Given the description of an element on the screen output the (x, y) to click on. 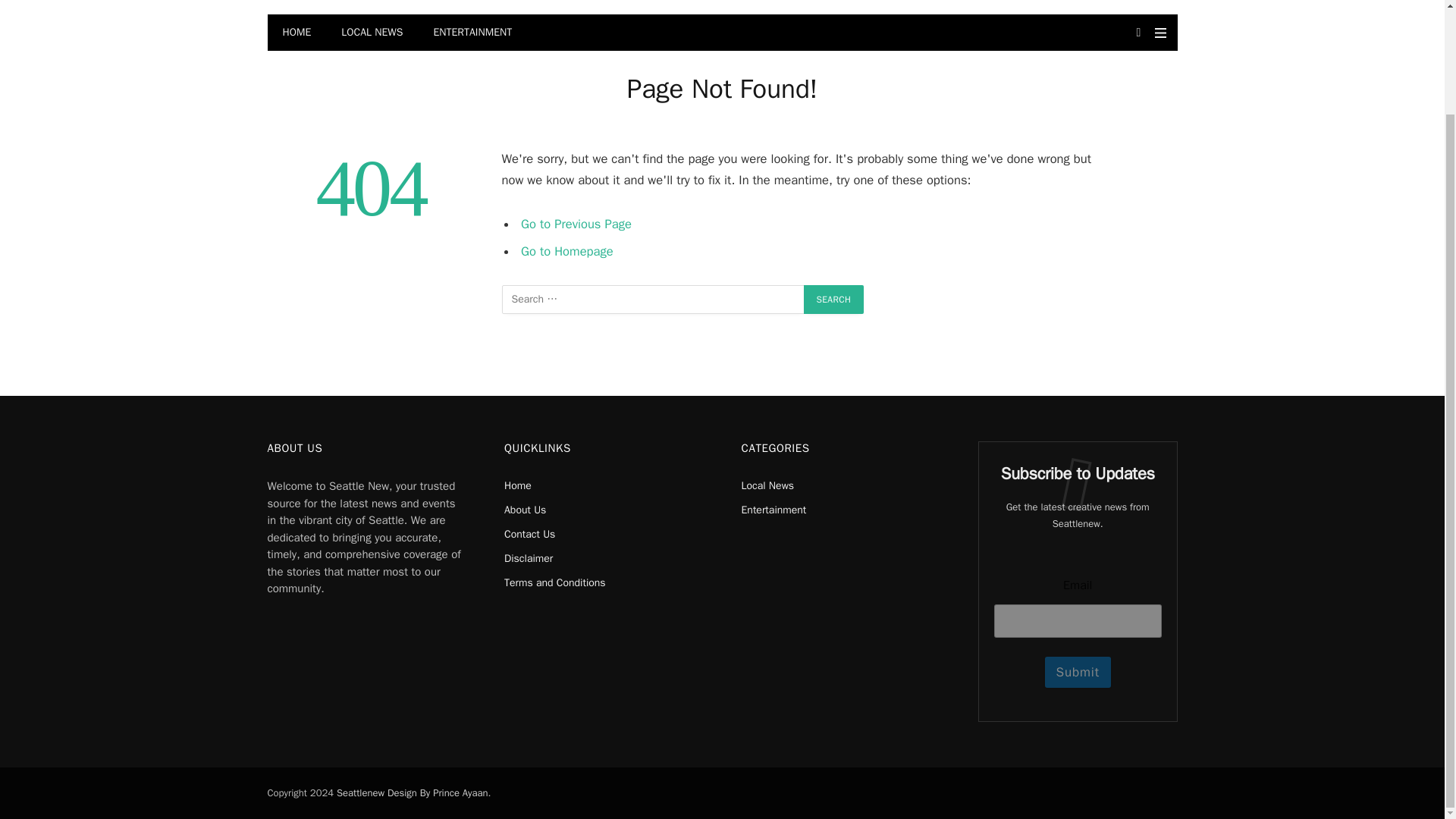
Go to Previous Page (576, 223)
Go to Homepage (566, 251)
ENTERTAINMENT (472, 32)
Submit (1077, 671)
Contact Us (528, 533)
Home (517, 485)
Switch to Dark Design - easier on eyes. (1138, 32)
Entertainment (773, 509)
LOCAL NEWS (371, 32)
Search (833, 299)
HOME (296, 32)
Search (833, 299)
Local News (767, 485)
Search (833, 299)
Disclaimer (528, 558)
